Given the description of an element on the screen output the (x, y) to click on. 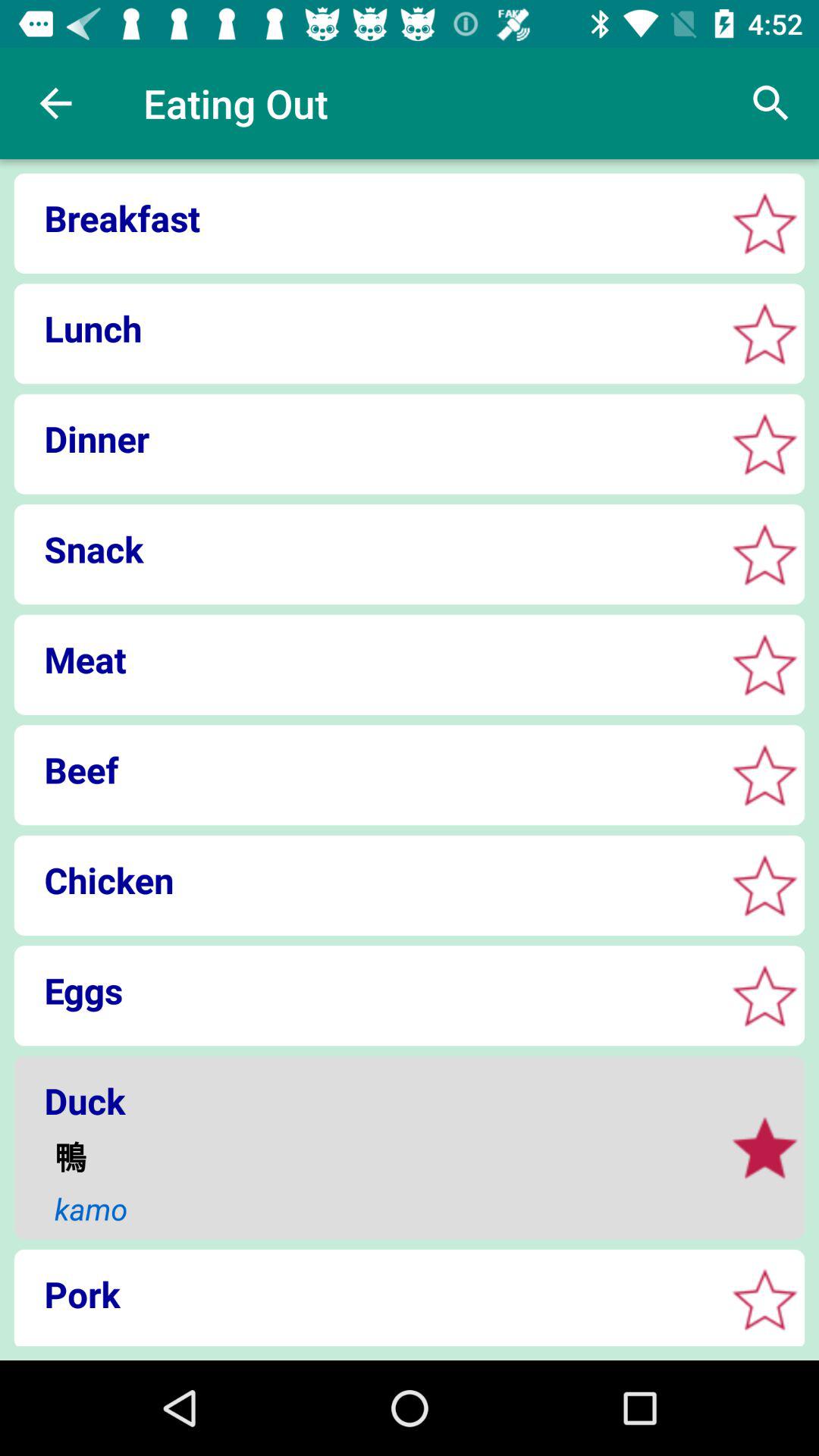
this is a favorite button (764, 1299)
